Given the description of an element on the screen output the (x, y) to click on. 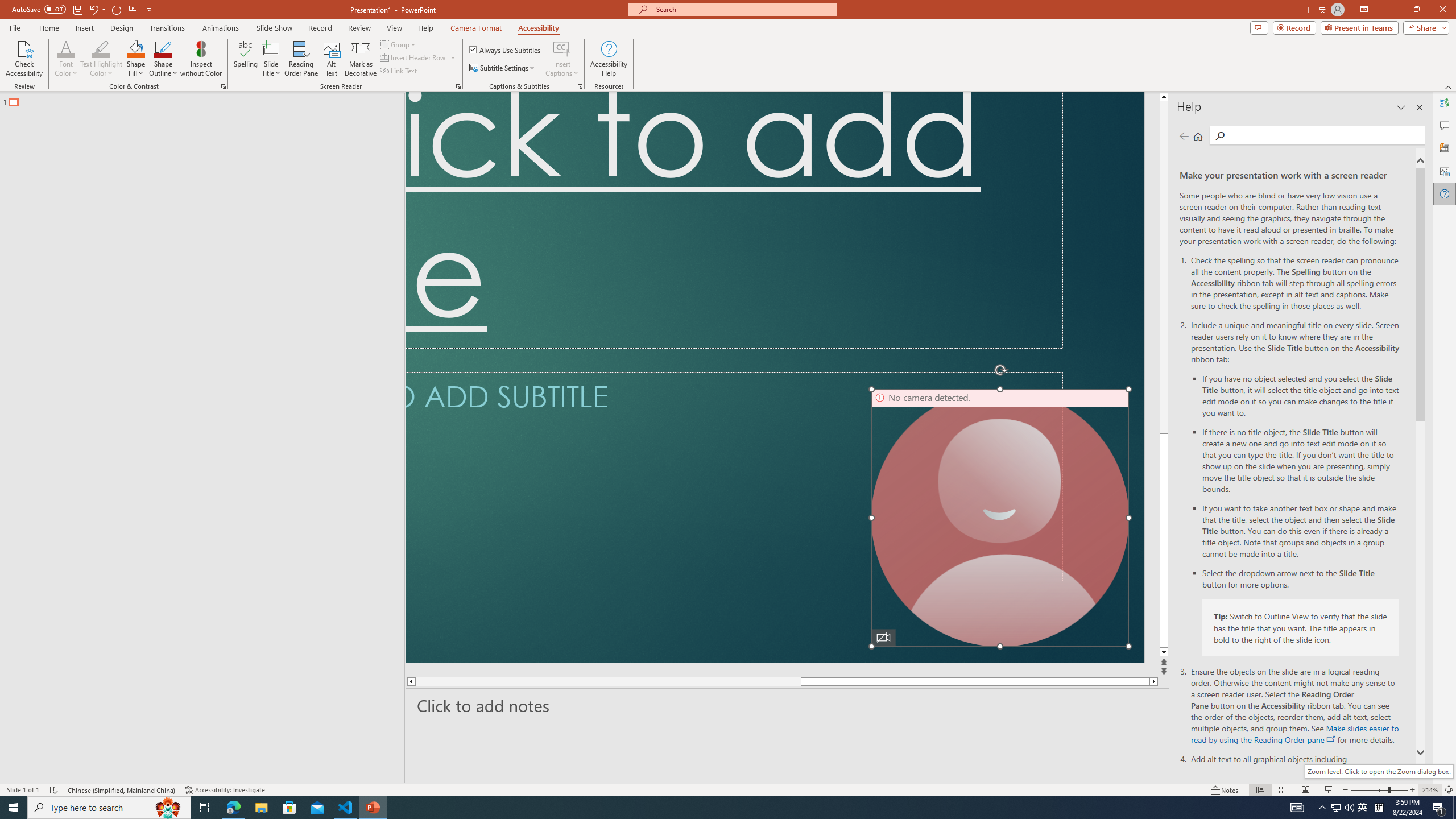
Accessibility Help (608, 58)
Screen Reader (458, 85)
